Given the description of an element on the screen output the (x, y) to click on. 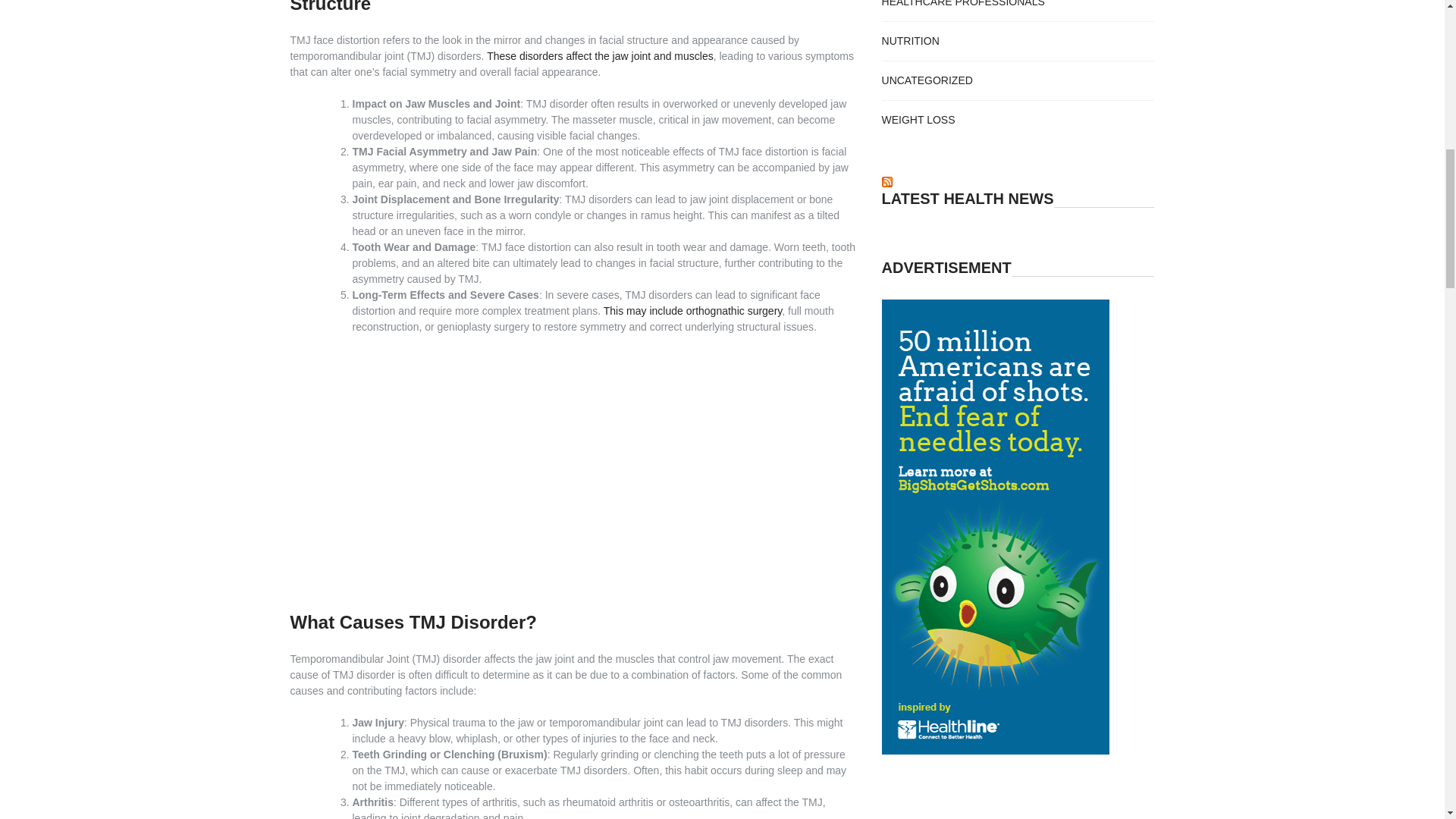
YouTube video player (574, 470)
HEALTHCARE PROFESSIONALS (963, 3)
NUTRITION (910, 40)
UNCATEGORIZED (927, 80)
This may include orthognathic surgery (693, 310)
Weight Loss blogs (918, 119)
These disorders affect the jaw joint and muscles (599, 55)
Blogs about nutrition and healthy eating. (910, 40)
